Given the description of an element on the screen output the (x, y) to click on. 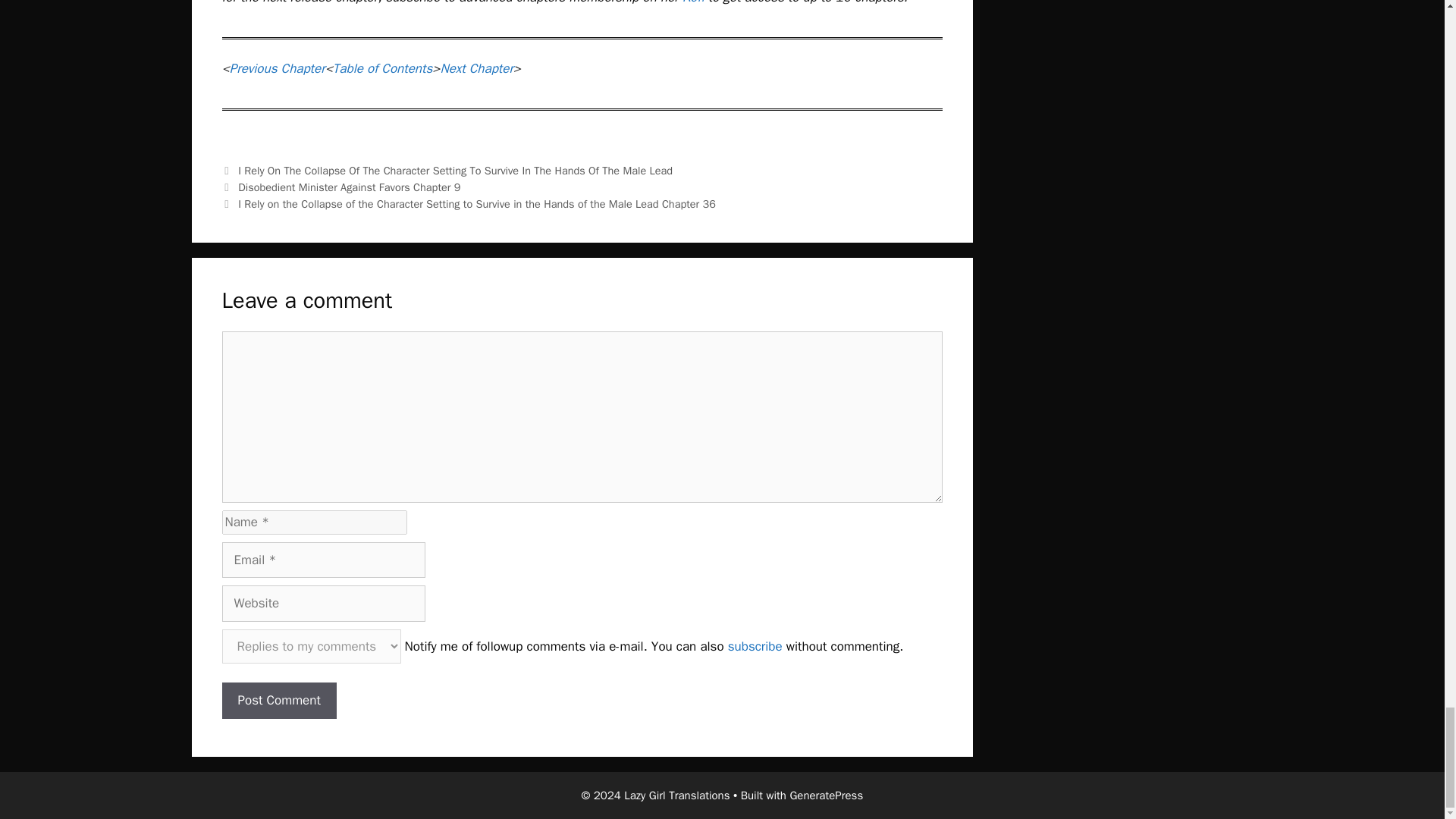
Disobedient Minister Against Favors Chapter 9 (349, 187)
GeneratePress (826, 794)
Kofi (693, 2)
Table of Contents (382, 68)
Previous (340, 187)
Post Comment (278, 700)
Next (467, 203)
Next Chapter (475, 68)
Post Comment (278, 700)
subscribe (755, 645)
Previous Chapter (277, 68)
